Given the description of an element on the screen output the (x, y) to click on. 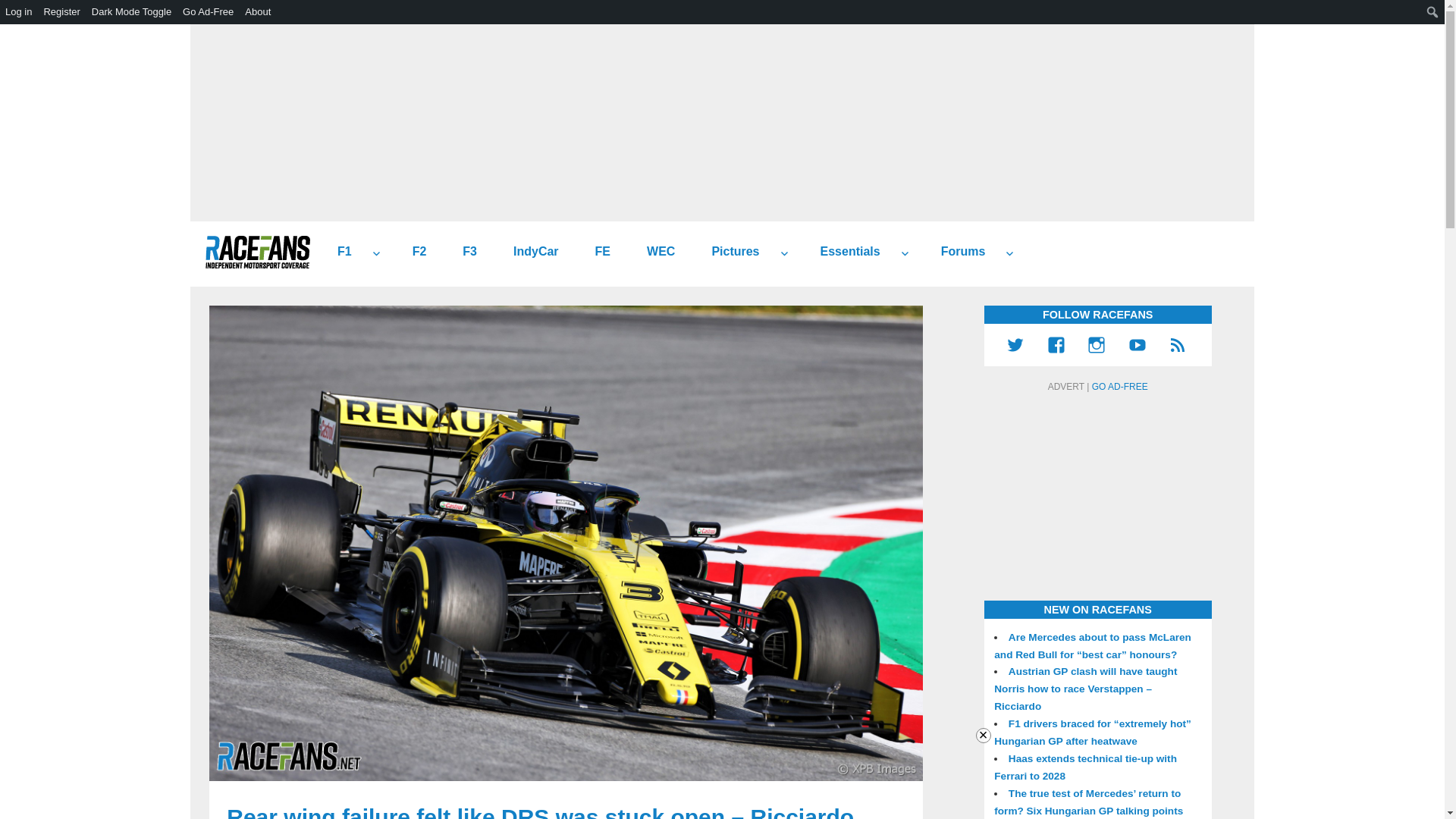
WEC (655, 251)
F1 (338, 251)
F1 pictures and wallpapers (729, 251)
Pictures (729, 251)
F3 (463, 251)
Formula 1 (338, 251)
Essentials (844, 251)
Formula E (596, 251)
RaceFans (257, 252)
IndyCar (529, 251)
expand child menu (904, 253)
expand child menu (783, 253)
Formula 2 (413, 251)
F2 (413, 251)
World Endurance Championship (655, 251)
